Given the description of an element on the screen output the (x, y) to click on. 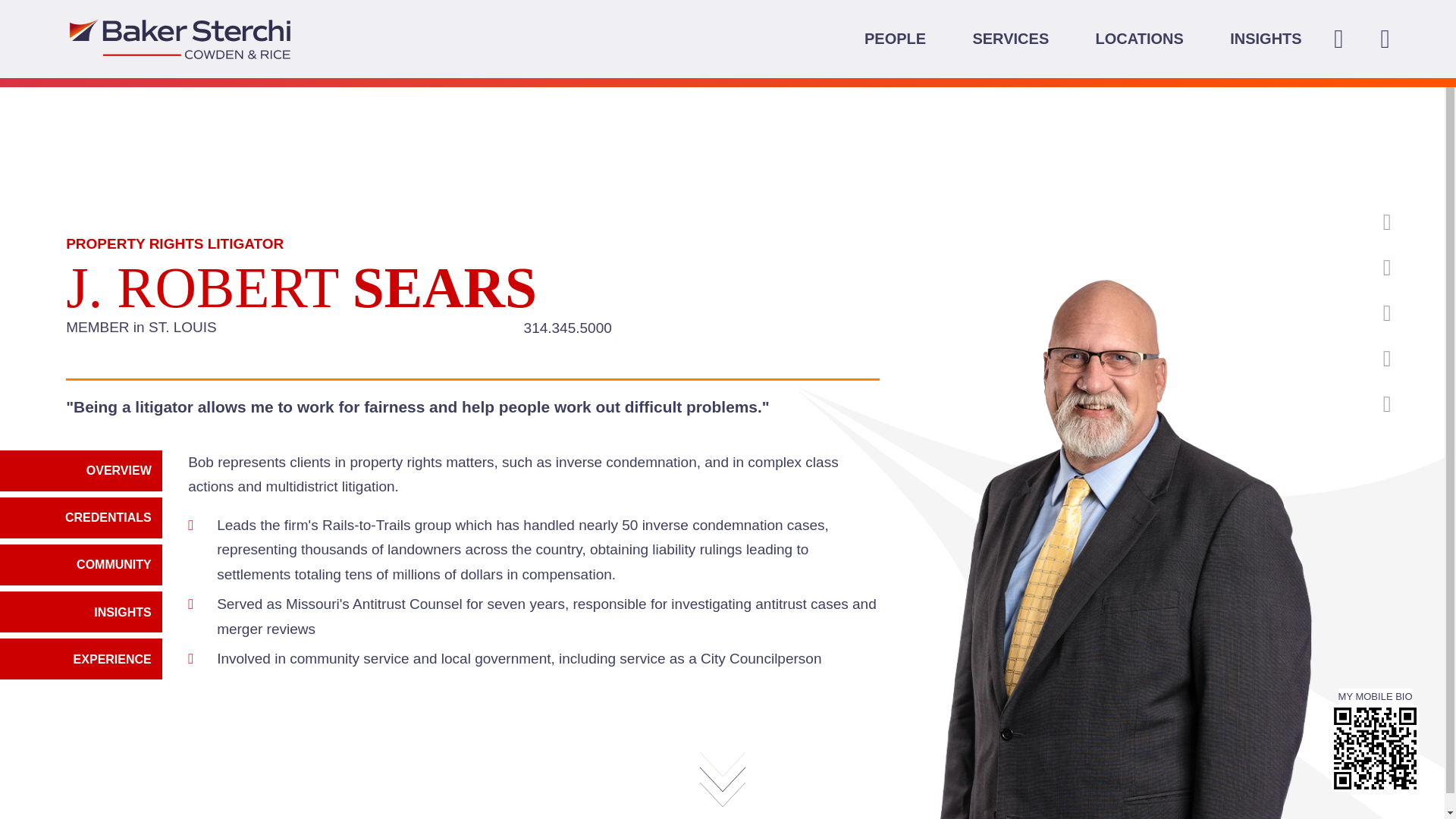
EXPERIENCE (1342, 336)
CREDENTIALS (80, 517)
INSIGHTS (1265, 38)
COMMUNITY (80, 564)
COMMUNITY (1342, 241)
INSIGHTS (80, 611)
EXPERIENCE (80, 658)
PEOPLE (895, 38)
SERVICES (1010, 38)
EXPERIENCE (80, 658)
EXPERIENCE (1342, 336)
INSIGHTS (80, 611)
OVERVIEW (80, 470)
INSIGHTS (1342, 289)
CREDENTIALS (80, 517)
